Given the description of an element on the screen output the (x, y) to click on. 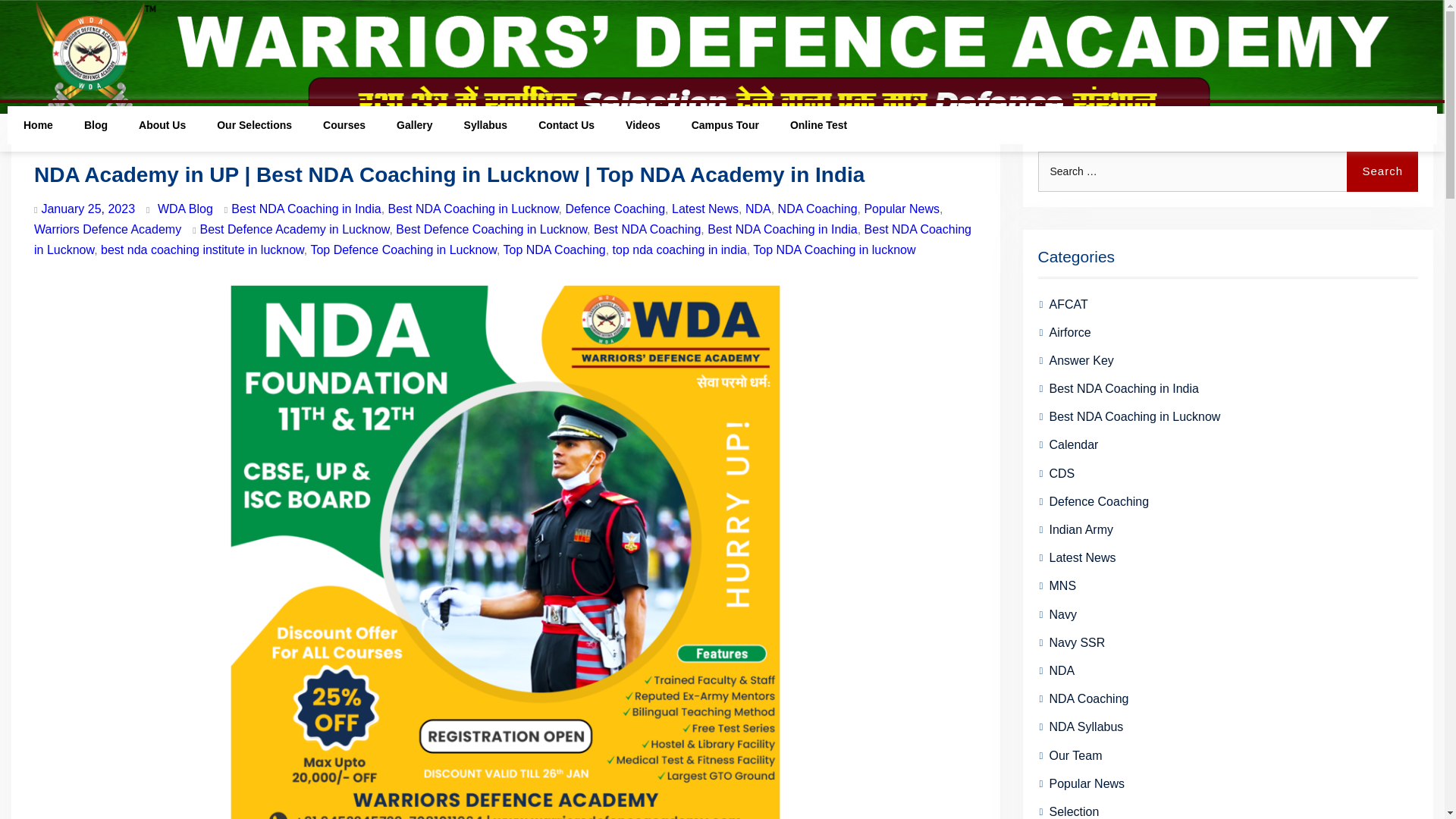
Our Selections (254, 125)
Online Test (818, 125)
Courses (344, 125)
Best NDA Coaching in Lucknow (473, 208)
Popular News (901, 208)
Campus Tour (725, 125)
Latest News (704, 208)
Gallery (414, 125)
Best NDA Coaching in India (782, 228)
Warriors Defence Academy (106, 228)
Best Defence Coaching in Lucknow (491, 228)
Best NDA Coaching (647, 228)
Syllabus (486, 125)
Defence Coaching (614, 208)
Best NDA Coaching in India (305, 208)
